Given the description of an element on the screen output the (x, y) to click on. 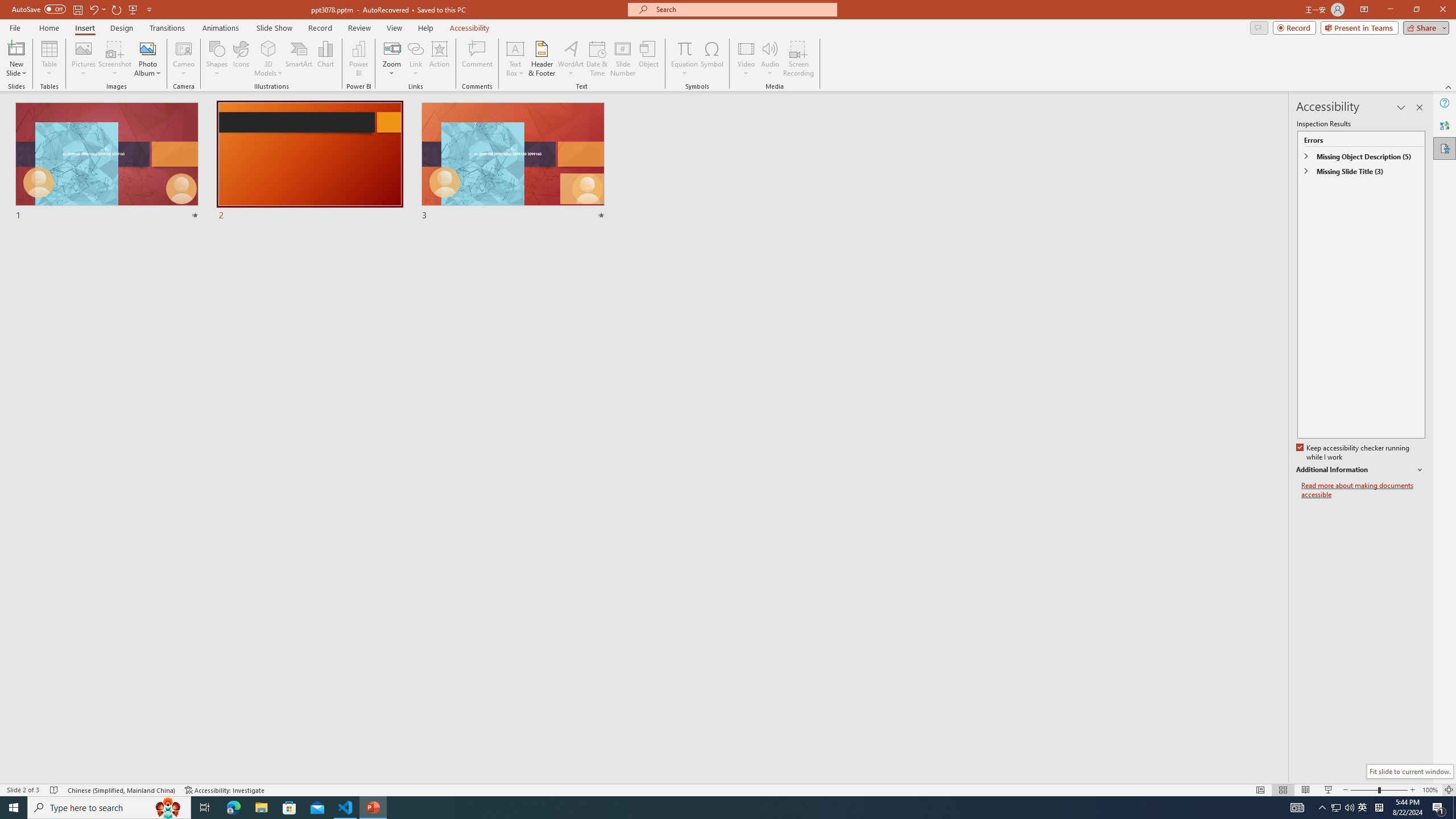
Reading View (1305, 790)
Screen Recording... (798, 58)
New Slide (16, 48)
Object... (649, 58)
File Tab (15, 27)
Microsoft search (742, 9)
Save (77, 9)
Share (1423, 27)
Close (1442, 9)
Chart... (325, 58)
Audio (769, 58)
Translator (1444, 125)
WordArt (570, 58)
